Given the description of an element on the screen output the (x, y) to click on. 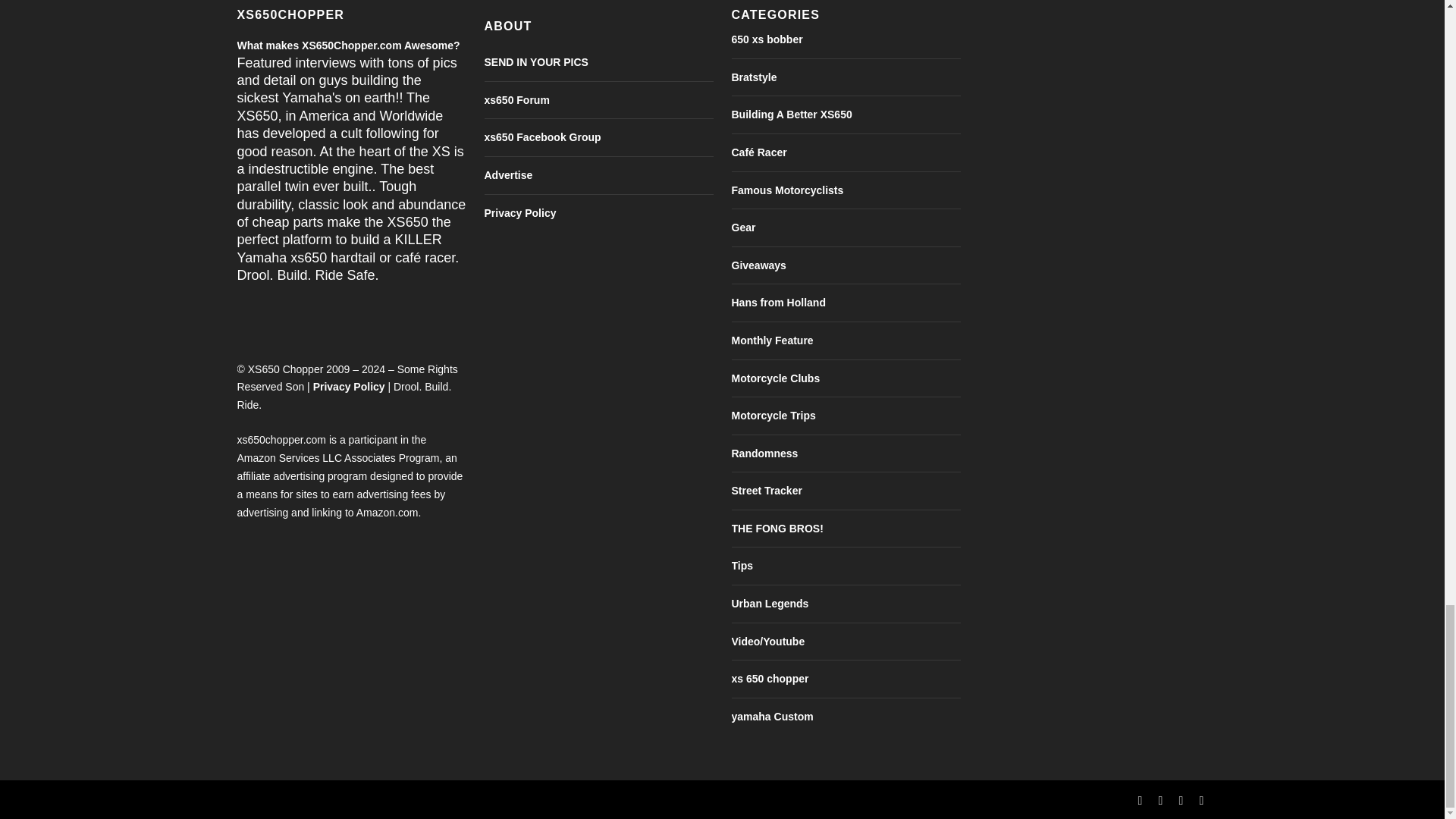
Premium WordPress Themes (336, 799)
